Given the description of an element on the screen output the (x, y) to click on. 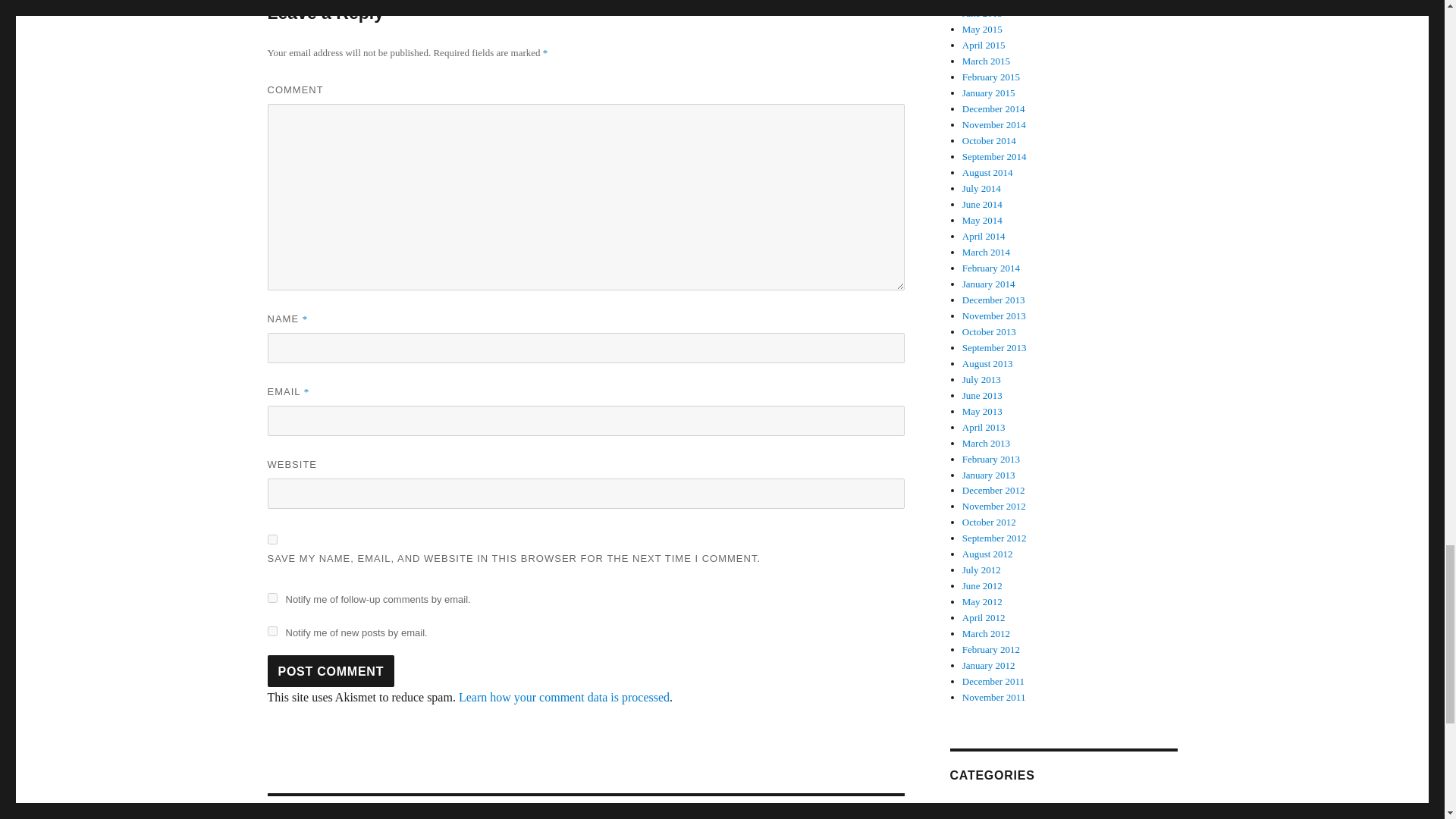
Post Comment (330, 671)
Post Comment (330, 671)
subscribe (271, 597)
yes (585, 807)
Learn how your comment data is processed (271, 539)
subscribe (563, 697)
